Given the description of an element on the screen output the (x, y) to click on. 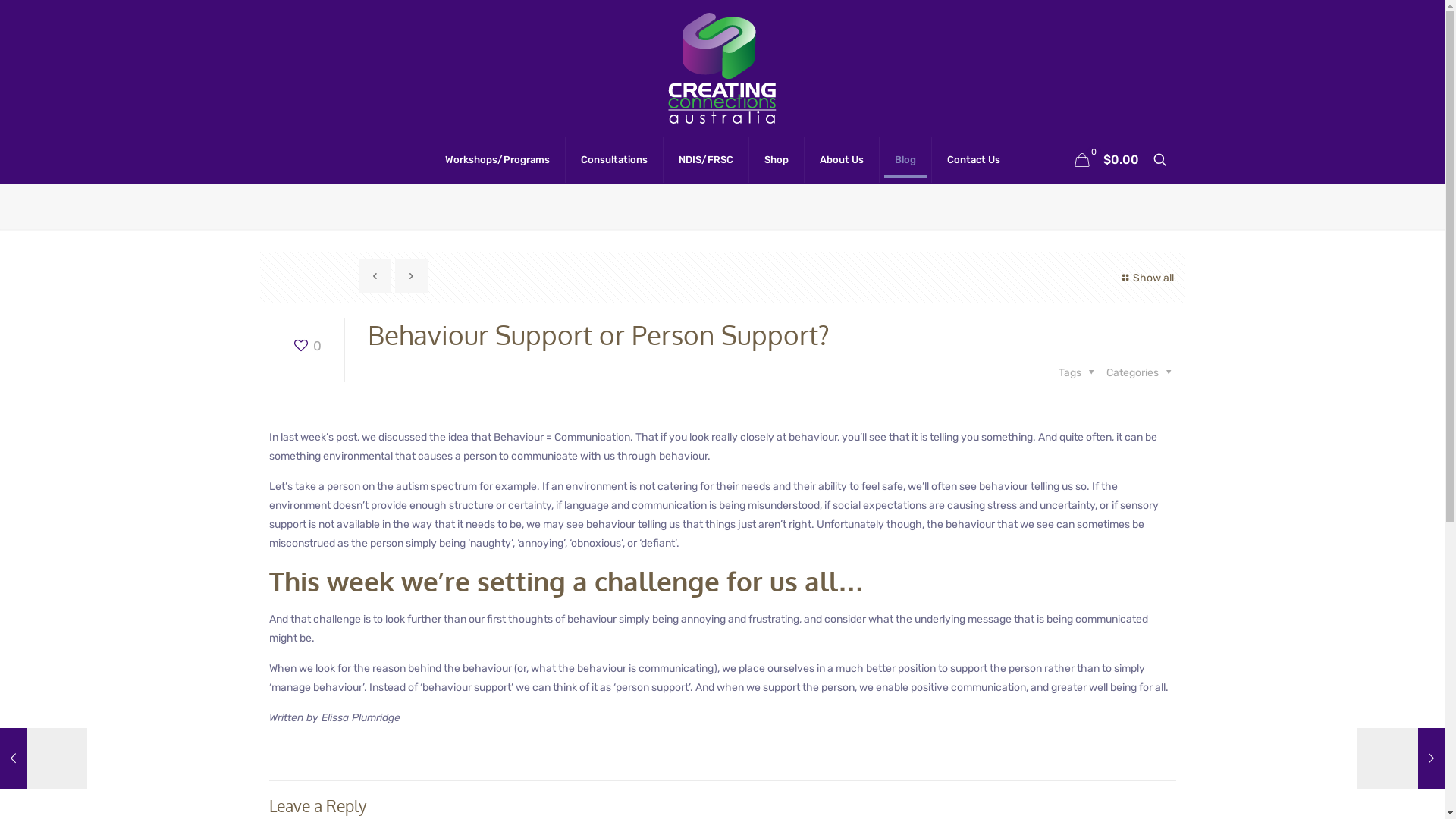
Blog Element type: text (905, 159)
Shop Element type: text (776, 159)
Creating Connections Australia Element type: hover (722, 68)
About Us Element type: text (840, 159)
0 Element type: text (305, 345)
NDIS/FRSC Element type: text (705, 159)
Contact Us Element type: text (972, 159)
Show all Element type: text (1145, 277)
0
$0.00 Element type: text (1106, 159)
Consultations Element type: text (614, 159)
Workshops/Programs Element type: text (496, 159)
